Given the description of an element on the screen output the (x, y) to click on. 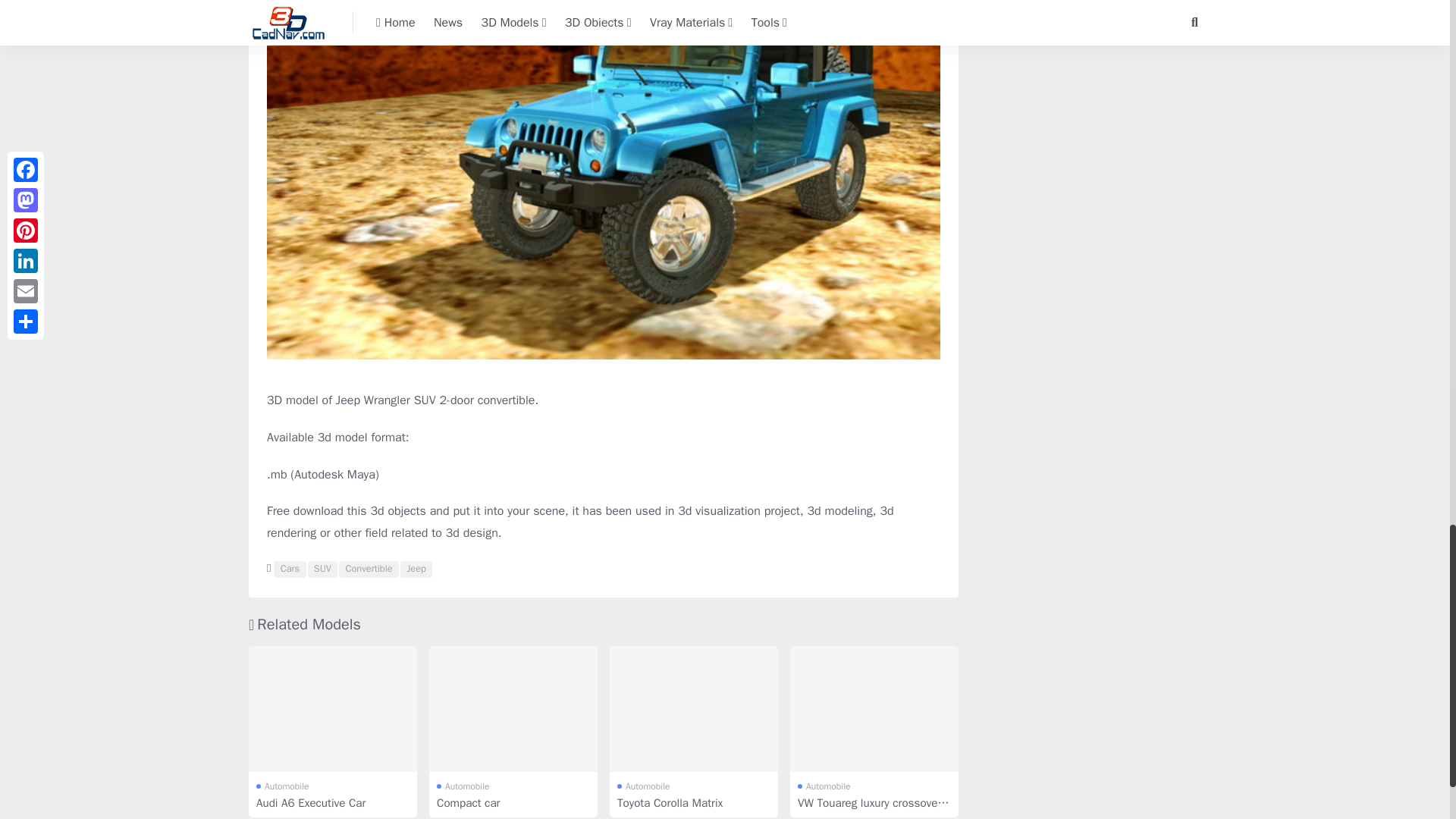
Audi A6 Executive Car 3d model download (332, 709)
SUV 3d model (322, 569)
VW Touareg luxury crossover SUV 3d model download (874, 709)
Jeep 3d model (416, 569)
Cars 3d model (289, 569)
Compact car 3d model download (512, 709)
Convertible 3d model (368, 569)
Toyota Corolla Matrix 3d model download (693, 709)
